Given the description of an element on the screen output the (x, y) to click on. 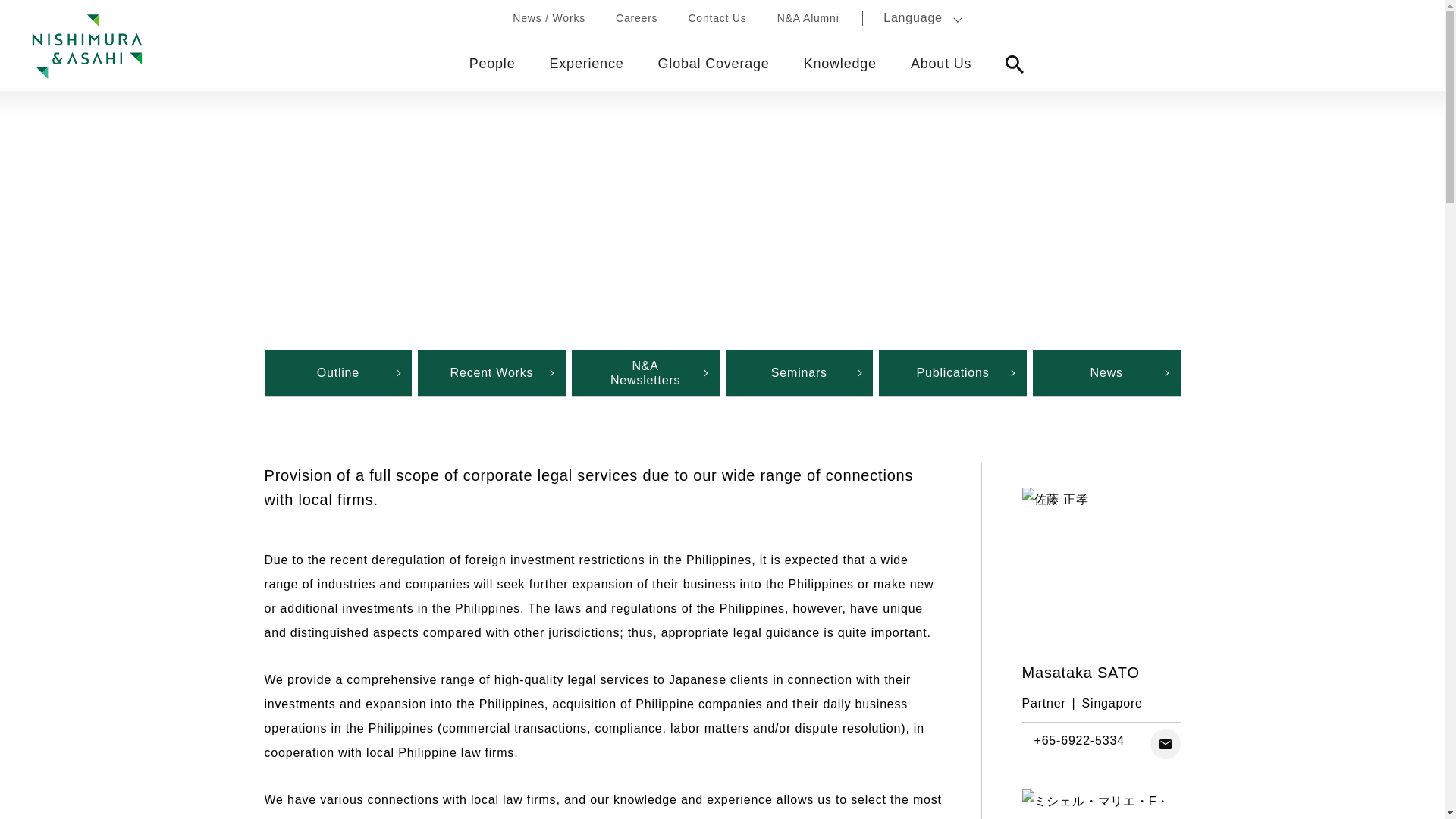
People (491, 63)
Experience (586, 63)
Global Coverage (713, 63)
Contact Us (716, 18)
Careers (636, 18)
